Given the description of an element on the screen output the (x, y) to click on. 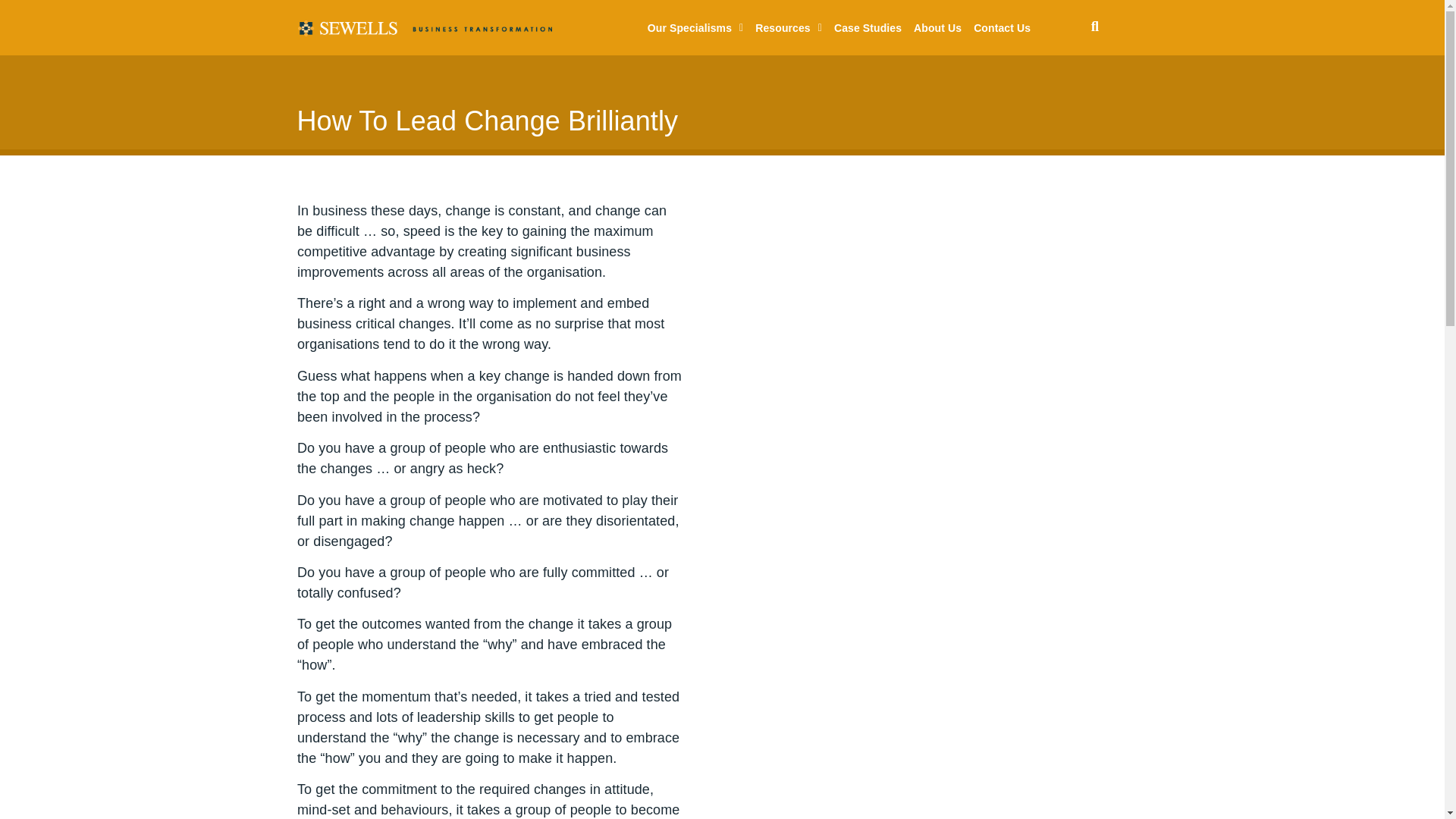
Case Studies (867, 28)
Contact Us (1002, 28)
Our Specialisms (695, 28)
Resources (788, 28)
About Us (937, 28)
